Given the description of an element on the screen output the (x, y) to click on. 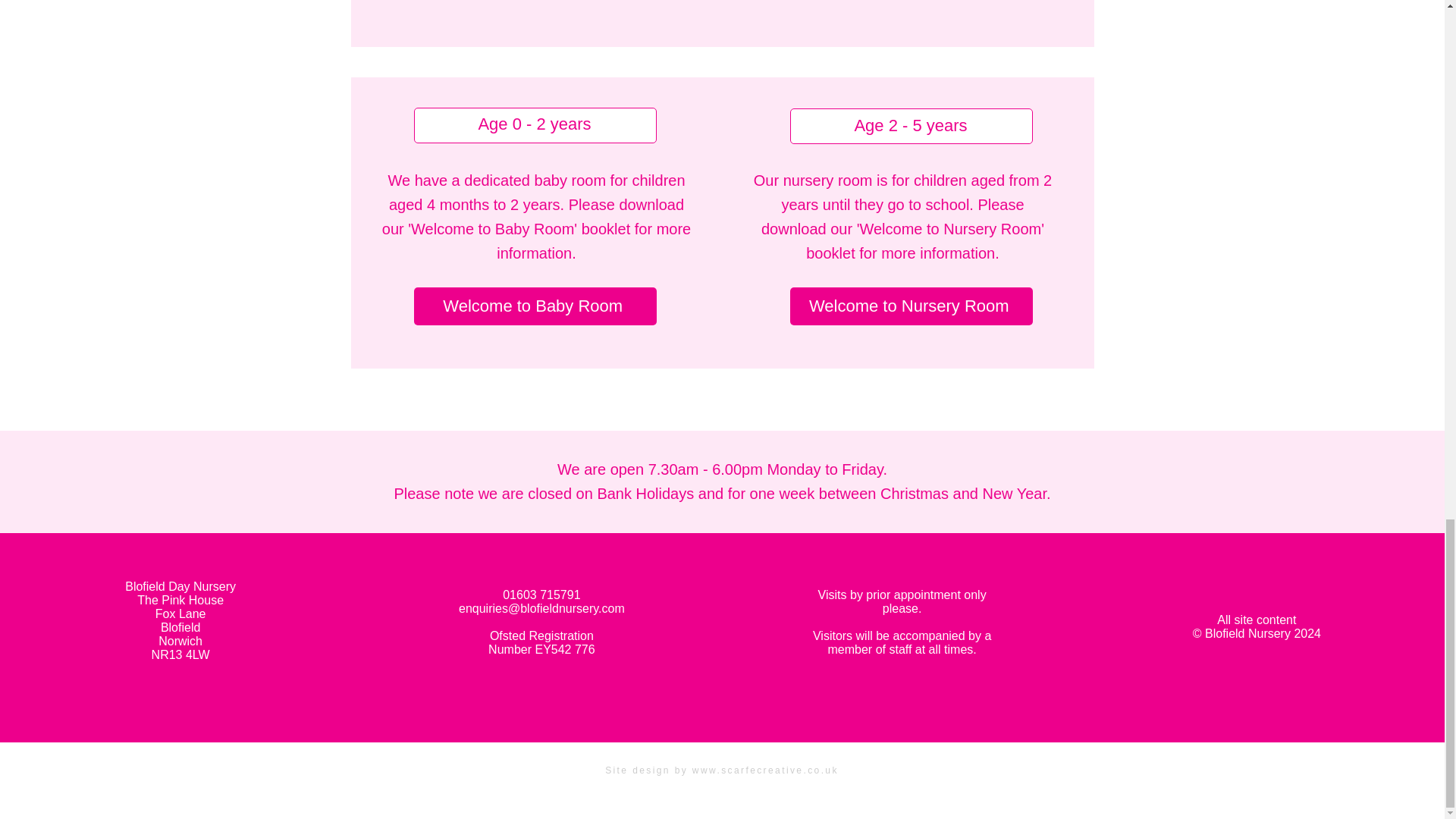
Welcome to Baby Room (534, 306)
Site design by www.scarfecreative.co.uk (721, 769)
Welcome to Nursery Room (911, 306)
